Given the description of an element on the screen output the (x, y) to click on. 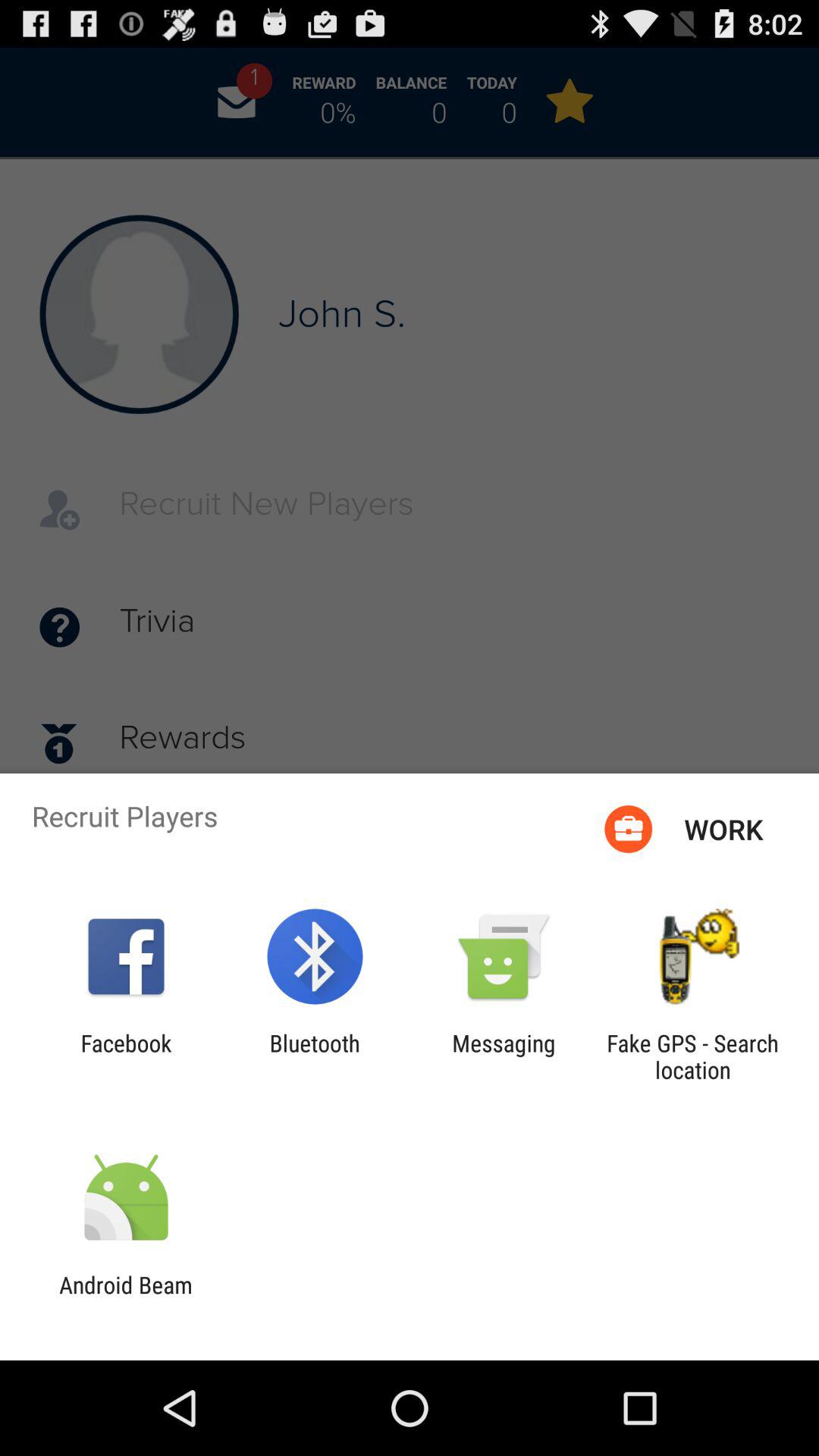
press the icon to the left of the messaging item (314, 1056)
